Given the description of an element on the screen output the (x, y) to click on. 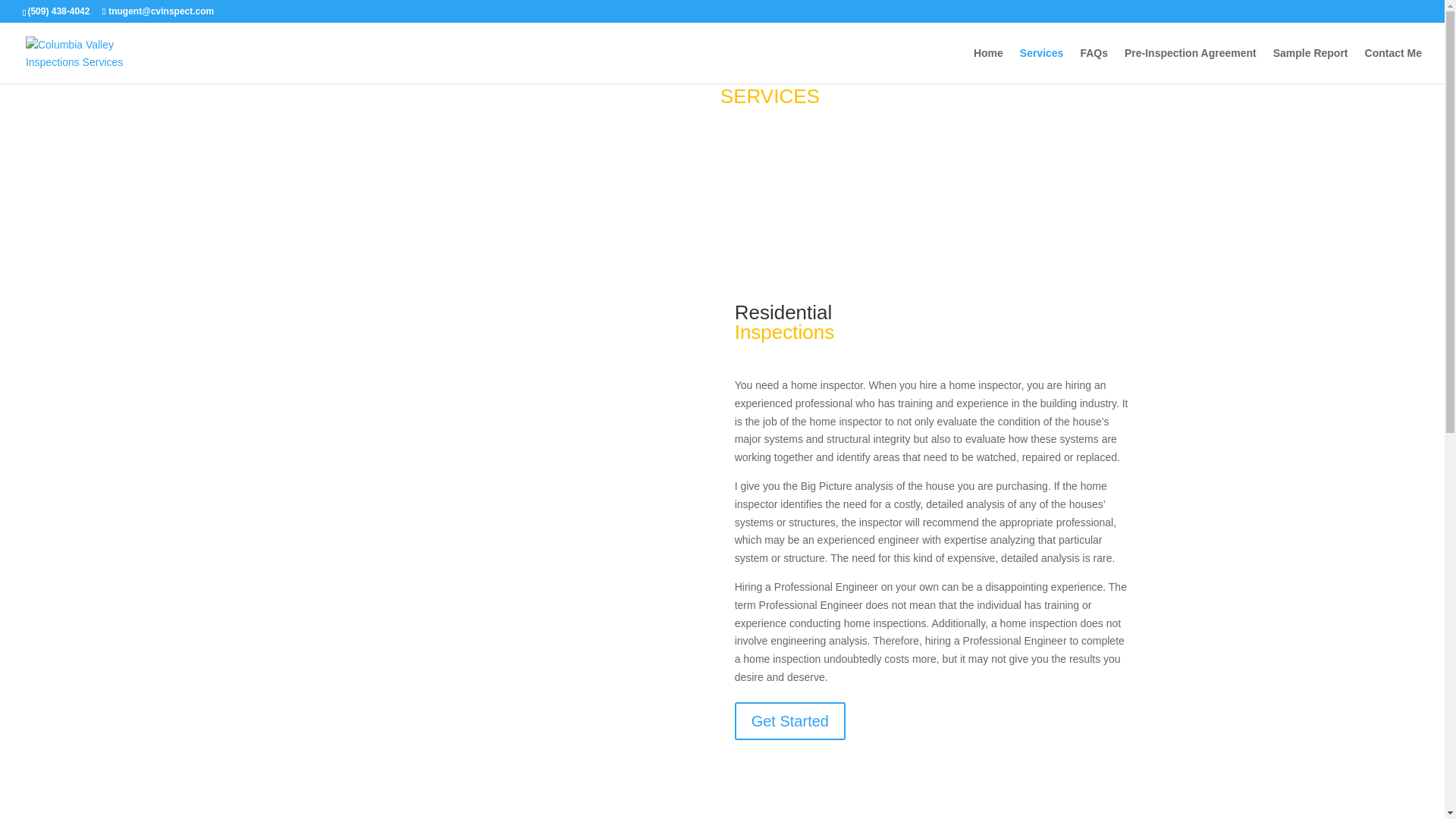
Get Started (790, 720)
Sample Report (1310, 65)
Services (1042, 65)
Pre-Inspection Agreement (1190, 65)
Contact Me (1393, 65)
